Given the description of an element on the screen output the (x, y) to click on. 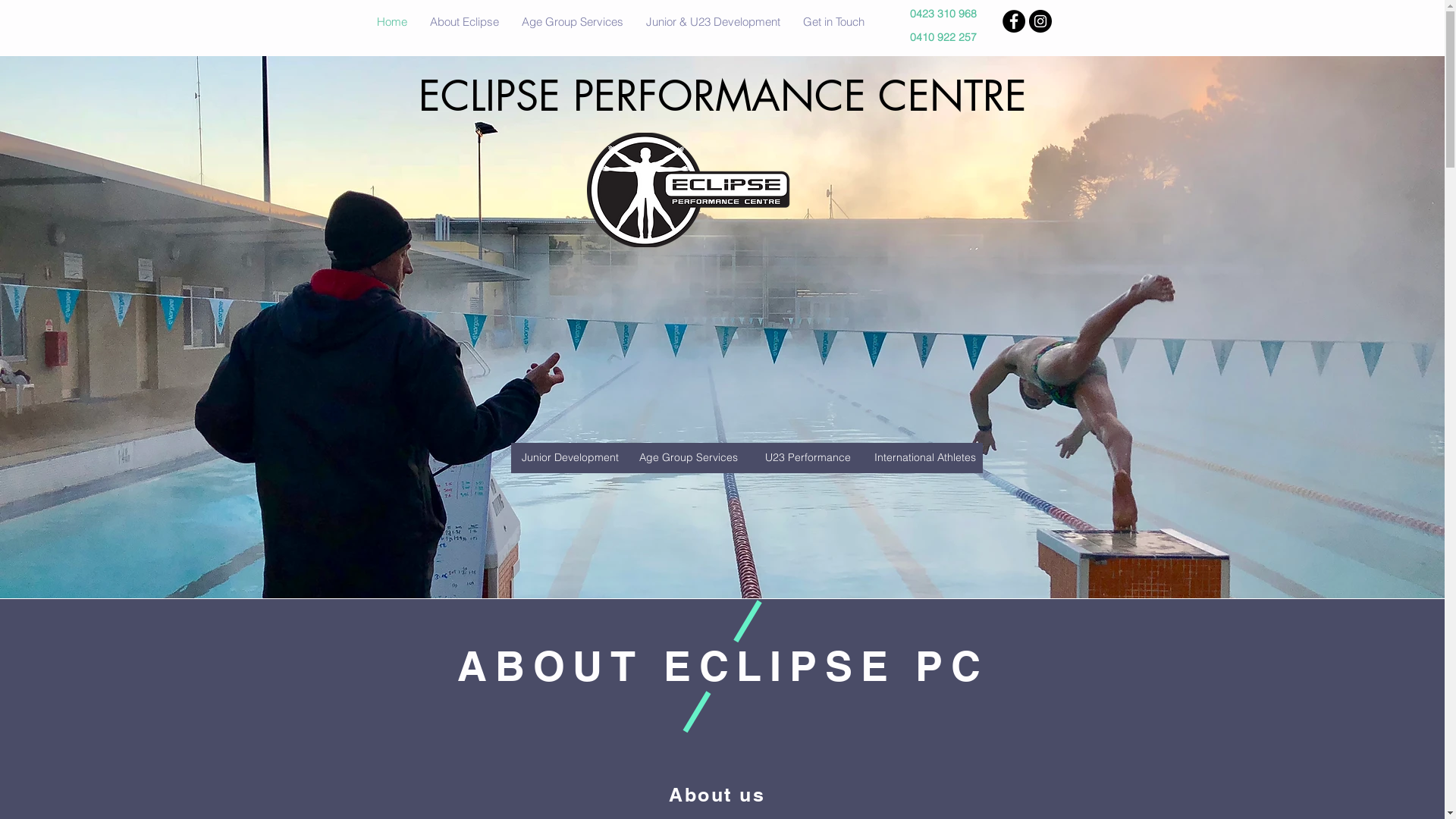
Junior Development Element type: text (570, 457)
Get in Touch Element type: text (833, 21)
About Eclipse Element type: text (464, 21)
U23 Performance Element type: text (806, 457)
Junior & U23 Development Element type: text (711, 21)
Home Element type: text (391, 21)
International Athletes Element type: text (924, 457)
Age Group Services Element type: text (571, 21)
Age Group Services Element type: text (688, 457)
